Given the description of an element on the screen output the (x, y) to click on. 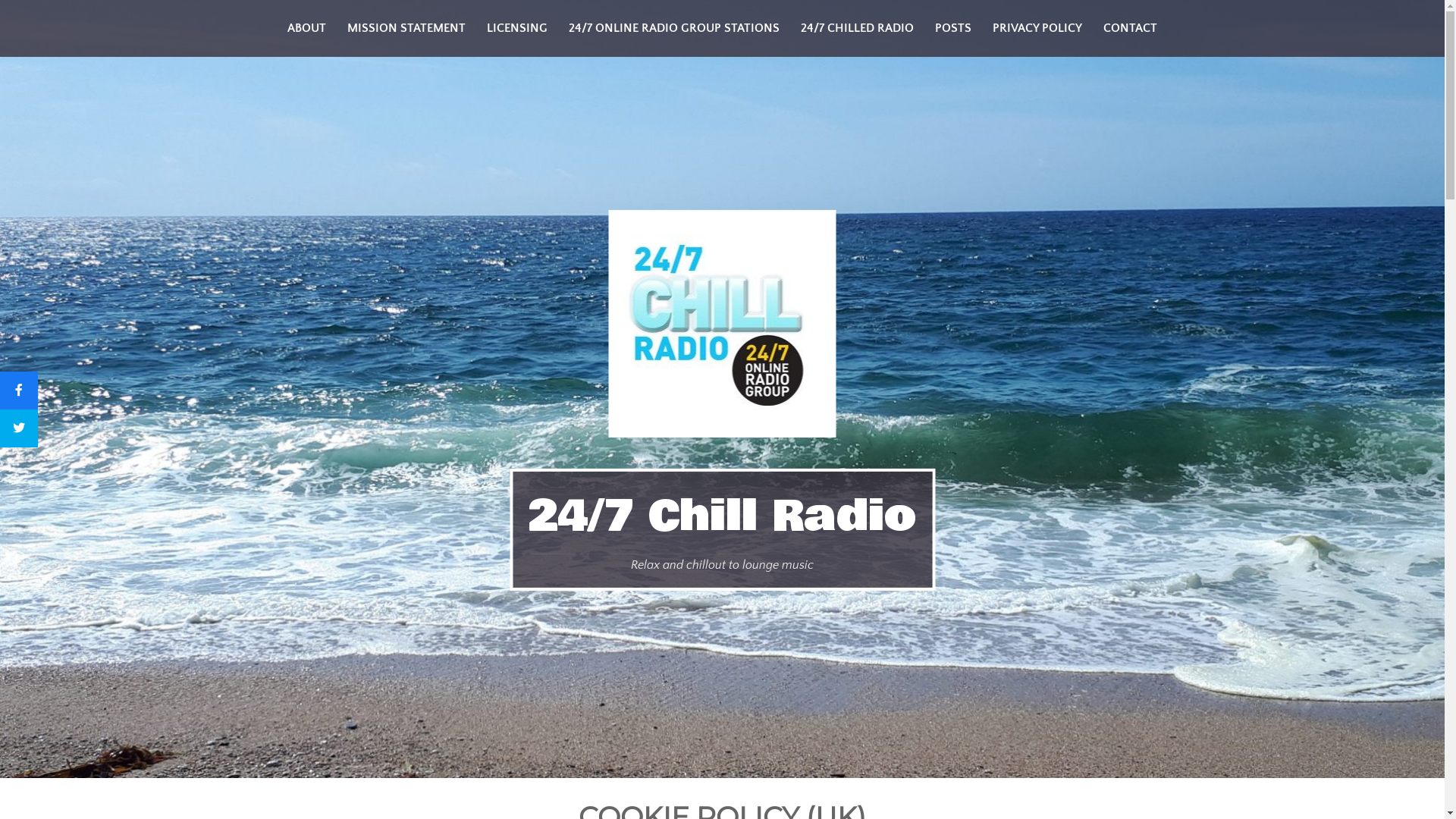
LICENSING Element type: text (516, 28)
24/7 ONLINE RADIO GROUP STATIONS Element type: text (673, 28)
24/7 Chill Radio Element type: text (721, 516)
ABOUT Element type: text (306, 28)
24/7 CHILLED RADIO Element type: text (856, 28)
MISSION STATEMENT Element type: text (406, 28)
PRIVACY POLICY Element type: text (1037, 28)
POSTS Element type: text (952, 28)
CONTACT Element type: text (1130, 28)
